Given the description of an element on the screen output the (x, y) to click on. 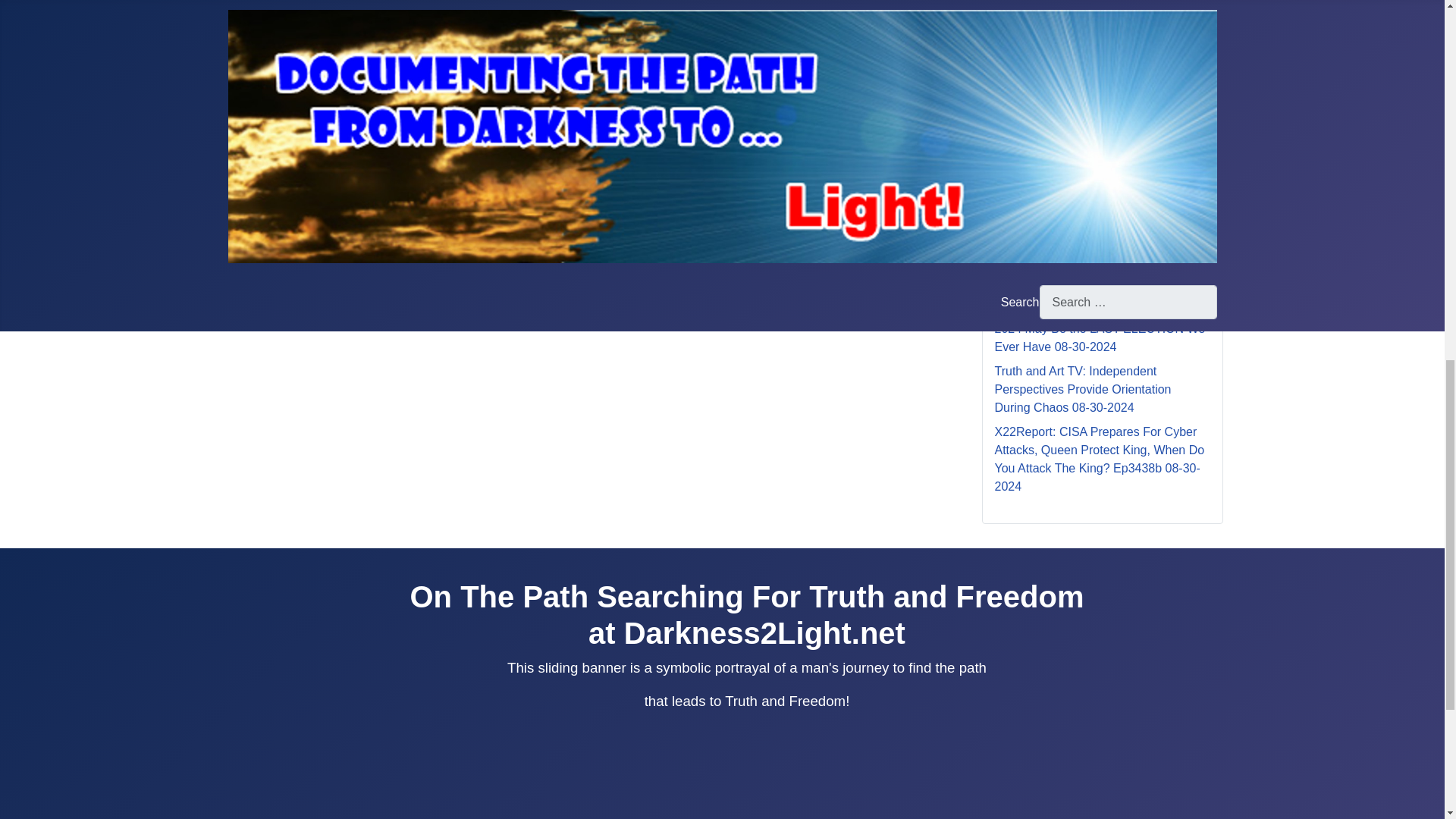
Stroppy Me (290, 4)
Tracy Beanz (292, 57)
TRUReporting (297, 75)
The Still Report (300, 39)
UncoverDC (290, 112)
X22Report (288, 130)
Truth and Art TV (303, 93)
The Last American Vagabond (339, 21)
